Given the description of an element on the screen output the (x, y) to click on. 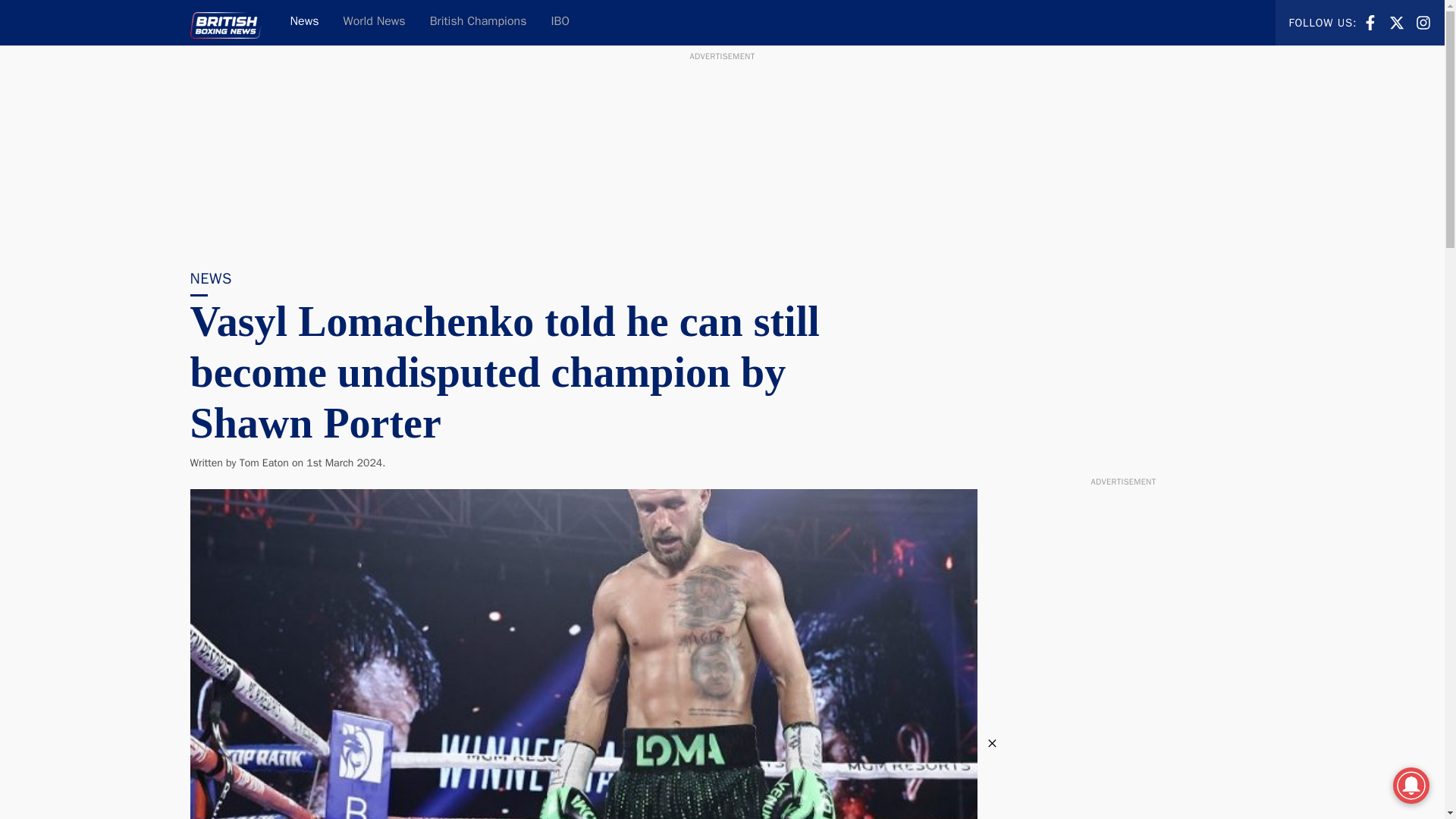
World News (374, 22)
Tom Eaton (264, 462)
News (1423, 21)
IBO (304, 22)
FACEBOOK (559, 22)
INSTAGRAM (1397, 21)
X (1369, 22)
British Champions (1423, 22)
